Given the description of an element on the screen output the (x, y) to click on. 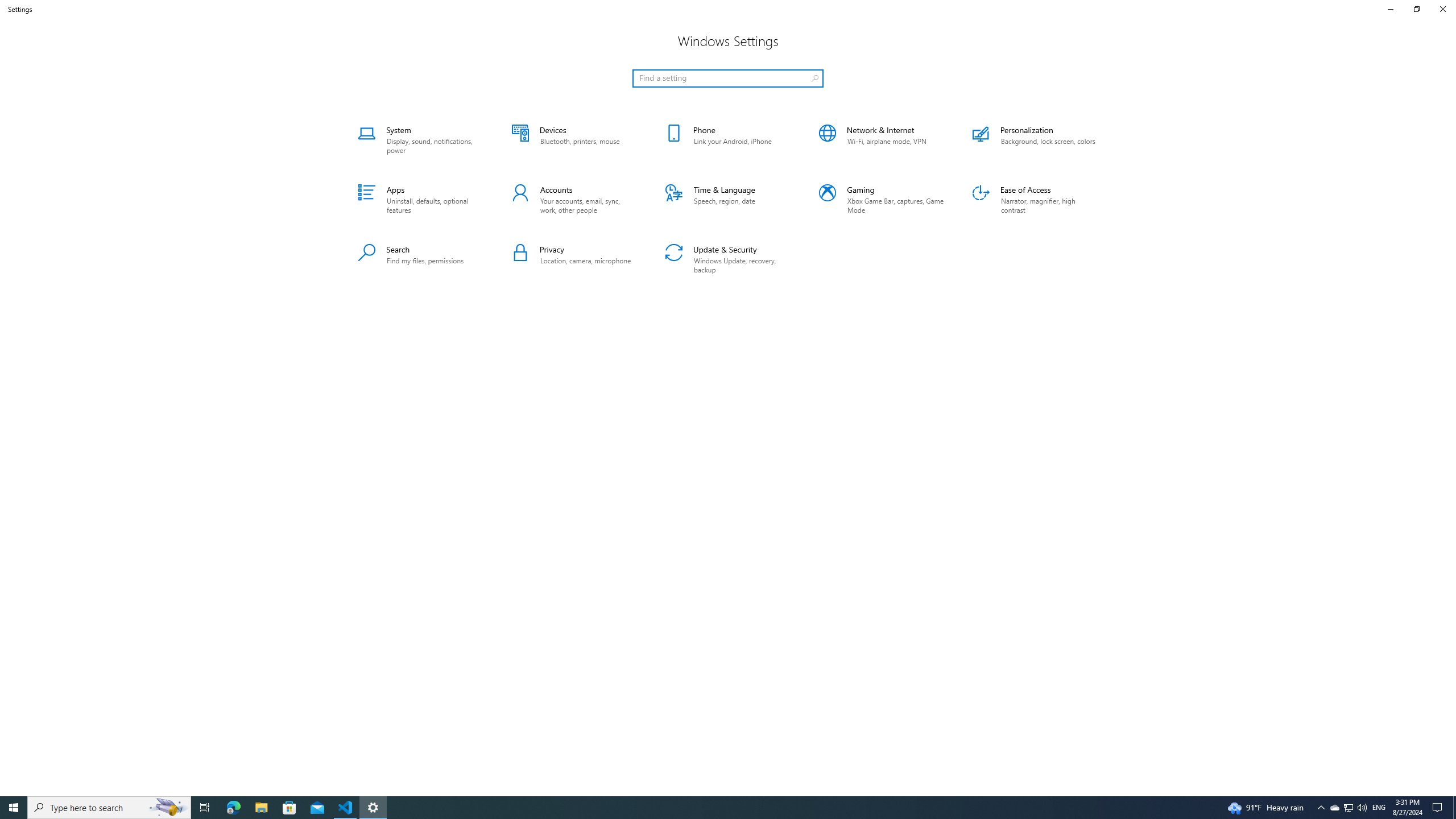
Settings - 1 running window (373, 807)
Search (420, 259)
Privacy (574, 259)
Close Settings (1442, 9)
